Given the description of an element on the screen output the (x, y) to click on. 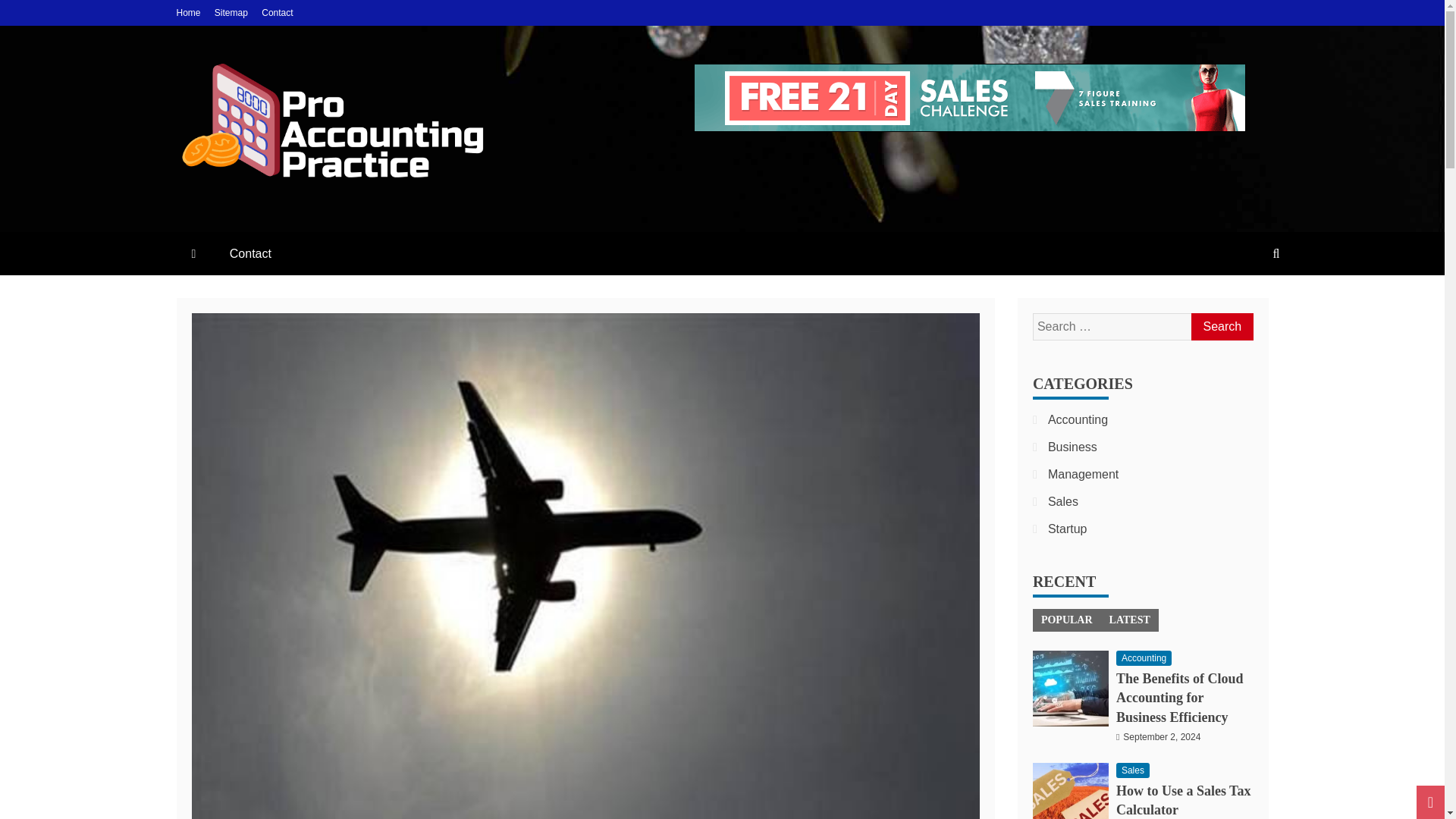
Sitemap (230, 12)
Search (1221, 326)
Contact (250, 253)
Search (1221, 326)
Pro Accounting Practice (349, 212)
Contact (277, 12)
Home (188, 12)
